Given the description of an element on the screen output the (x, y) to click on. 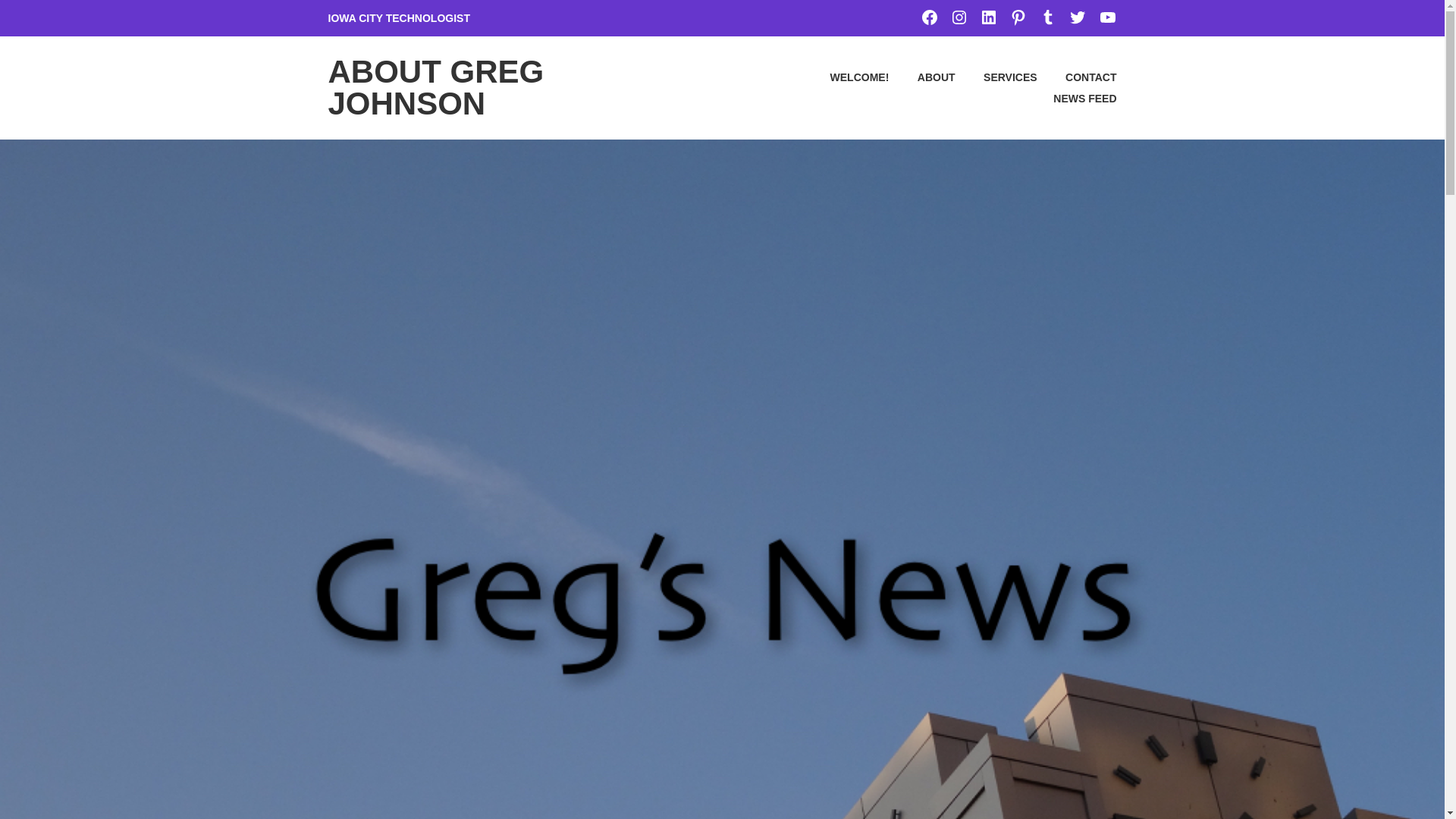
CONTACT (1078, 76)
FACEBOOK (929, 16)
SERVICES (997, 76)
TUMBLR (1048, 16)
NEWS FEED (1071, 97)
TWITTER (1077, 16)
WELCOME! (846, 76)
PINTEREST (1018, 16)
LINKEDIN (988, 16)
INSTAGRAM (959, 16)
Search (48, 17)
ABOUT GREG JOHNSON (435, 87)
YOUTUBE (1106, 16)
ABOUT (923, 76)
